Given the description of an element on the screen output the (x, y) to click on. 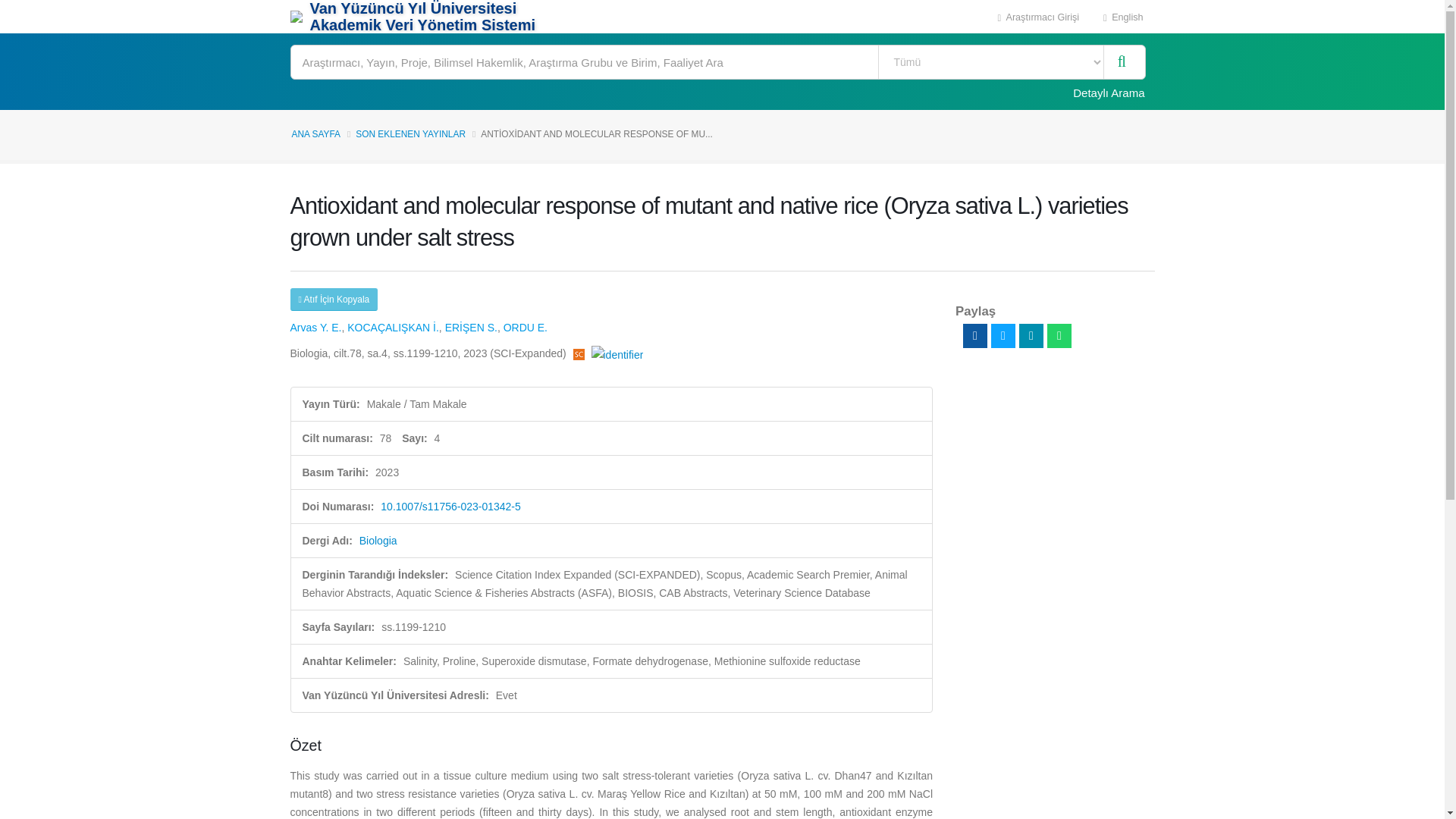
ANA SAYFA (315, 133)
ORDU E. (525, 327)
English (1123, 17)
Biologia (378, 540)
SON EKLENEN YAYINLAR (410, 133)
Arvas Y. E. (314, 327)
